Given the description of an element on the screen output the (x, y) to click on. 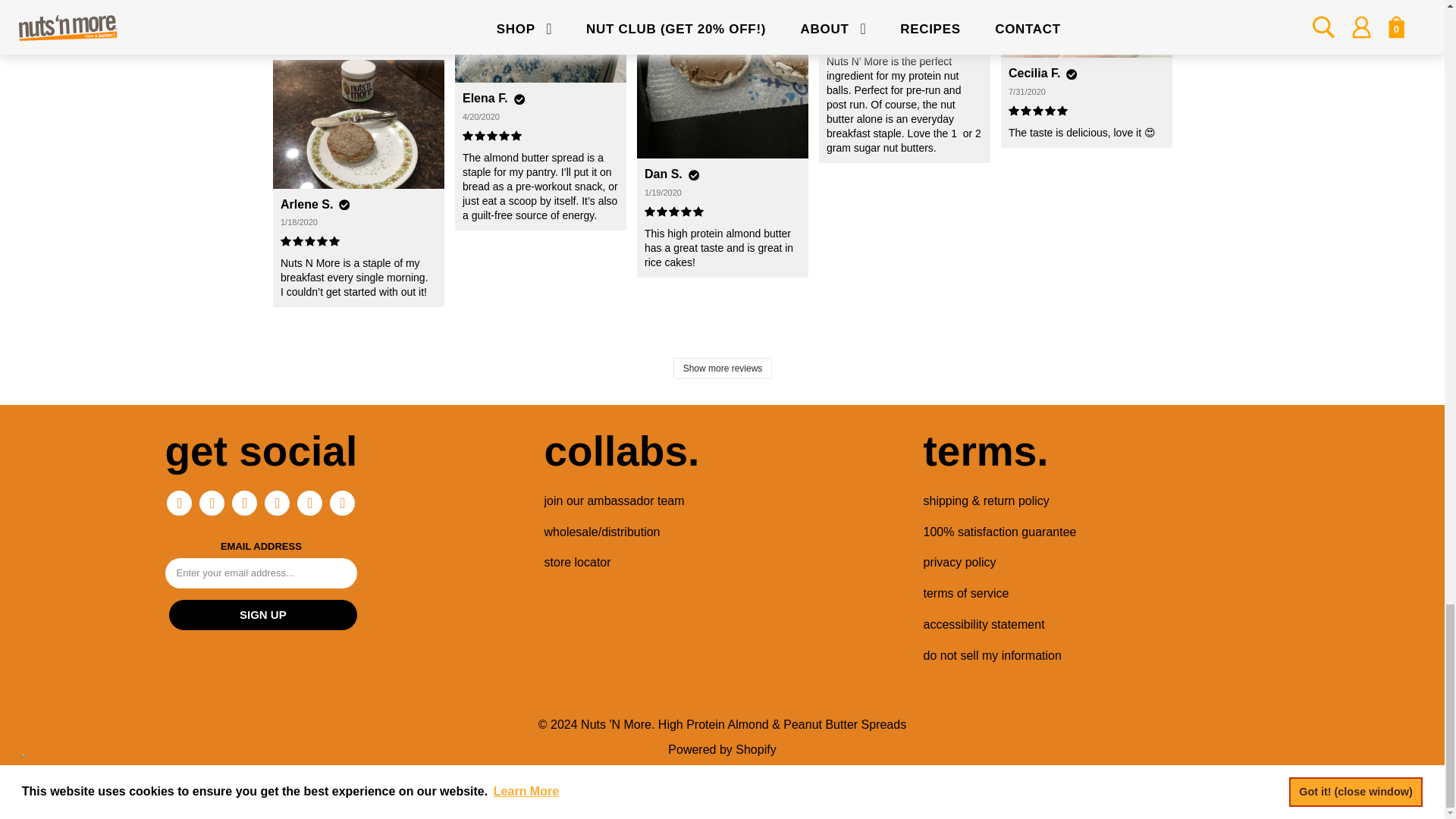
join our ambassador team (614, 500)
Powered By Shopify (722, 748)
store locator (577, 562)
Sign Up (262, 614)
